Given the description of an element on the screen output the (x, y) to click on. 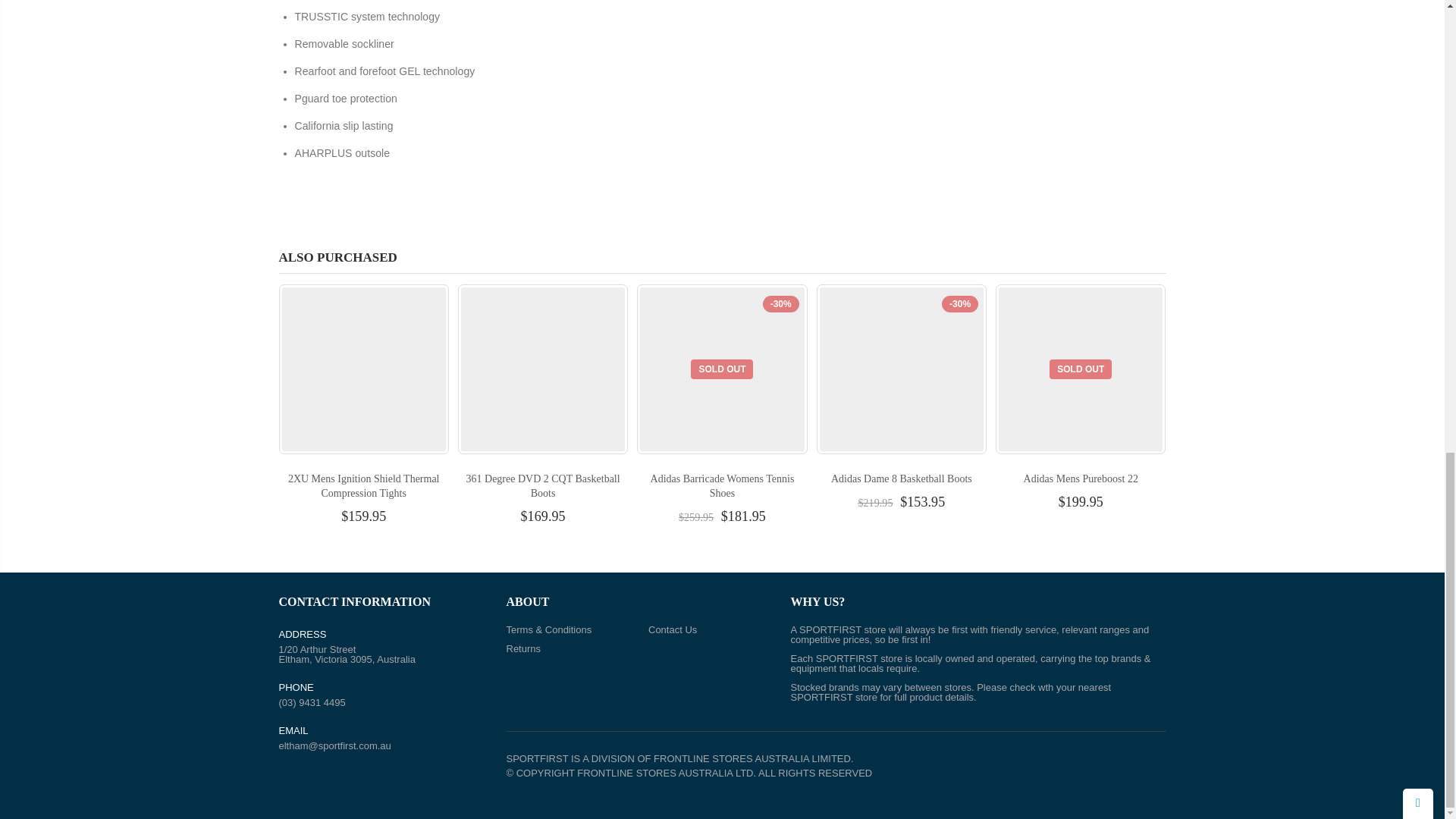
Adidas Barricade Womens Tennis Shoes (722, 485)
2XU Mens Ignition Shield Thermal Compression Tights (363, 485)
Adidas Dame 8 Basketball Boots (901, 478)
361 Degree DVD 2 CQT Basketball Boots (542, 485)
2XU Mens Ignition Shield Thermal Compression Tights (363, 485)
Adidas Mens Pureboost 22 (1080, 478)
